Given the description of an element on the screen output the (x, y) to click on. 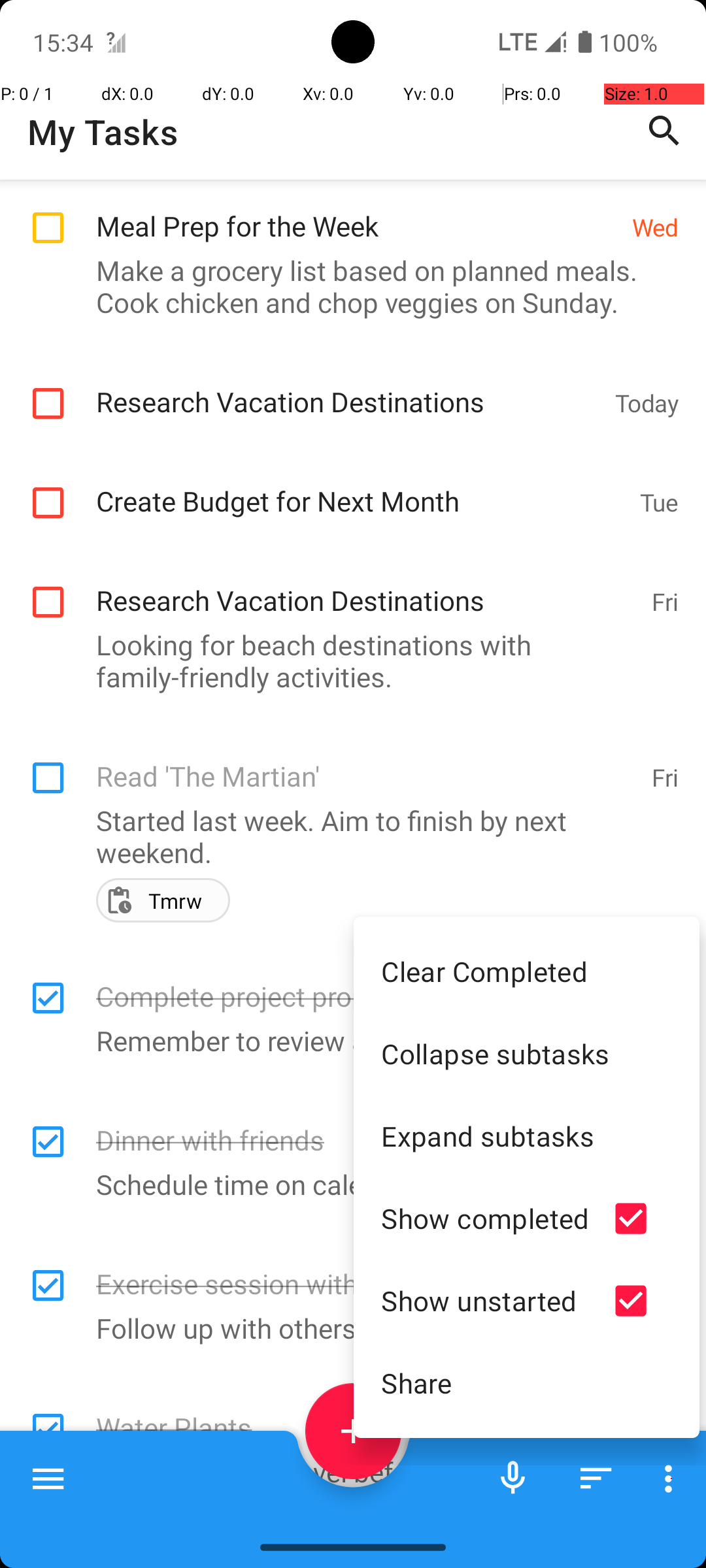
Clear Completed Element type: android.widget.TextView (526, 970)
Collapse subtasks Element type: android.widget.TextView (526, 1053)
Expand subtasks Element type: android.widget.TextView (526, 1135)
Show completed Element type: android.widget.TextView (485, 1217)
Show unstarted Element type: android.widget.TextView (485, 1300)
